Given the description of an element on the screen output the (x, y) to click on. 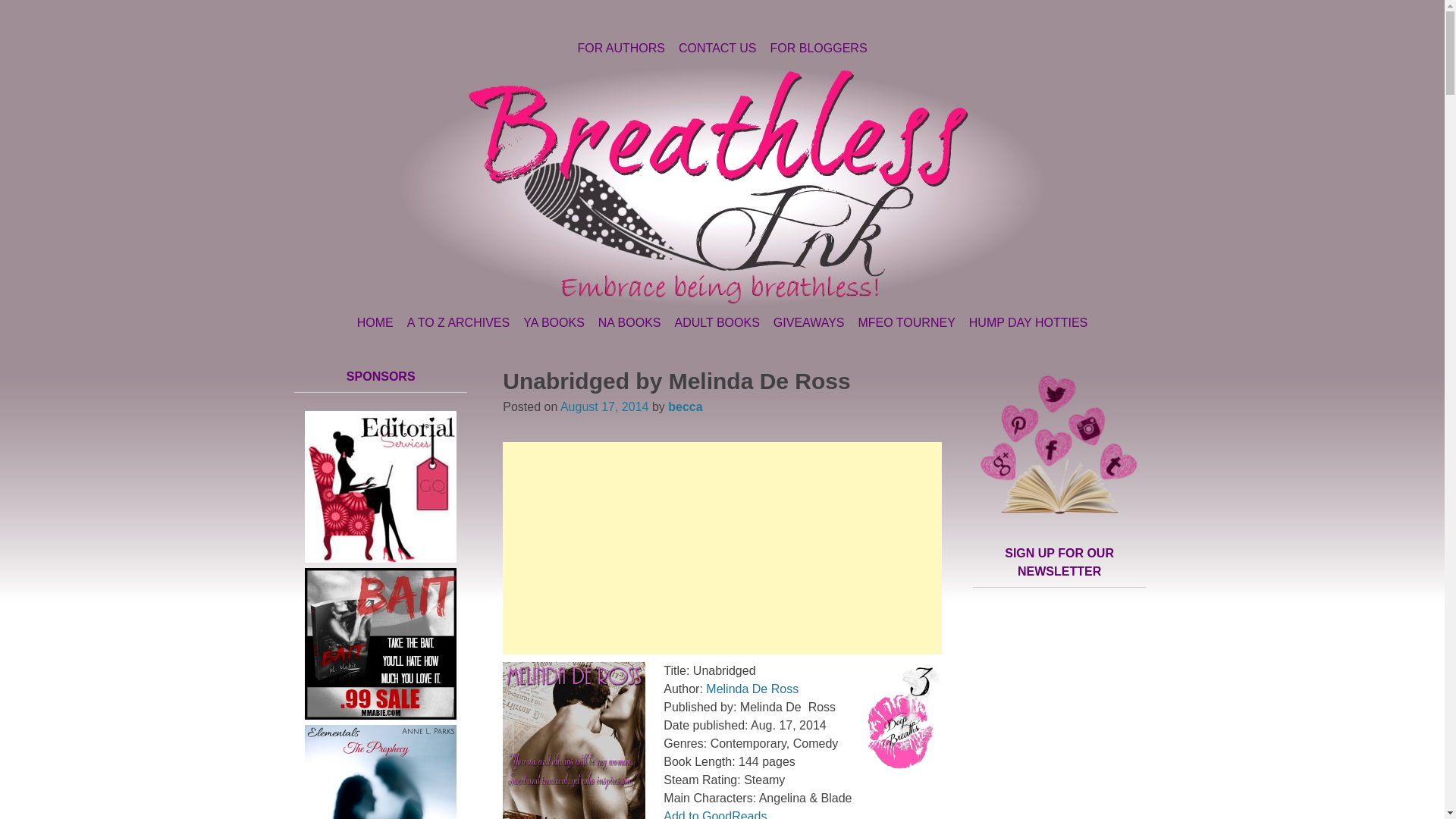
SKIP TO CONTENT (350, 322)
ADULT BOOKS (715, 322)
FOR AUTHORS (620, 48)
FOR BLOGGERS (818, 48)
A TO Z ARCHIVES (458, 322)
Skip to content (350, 322)
CONTACT US (716, 48)
BaitMMabie (380, 715)
6:00 am (604, 406)
Advertisement (722, 548)
YA BOOKS (553, 322)
HOME (375, 322)
DylanAd (380, 558)
NA BOOKS (629, 322)
View all posts by becca (684, 406)
